Given the description of an element on the screen output the (x, y) to click on. 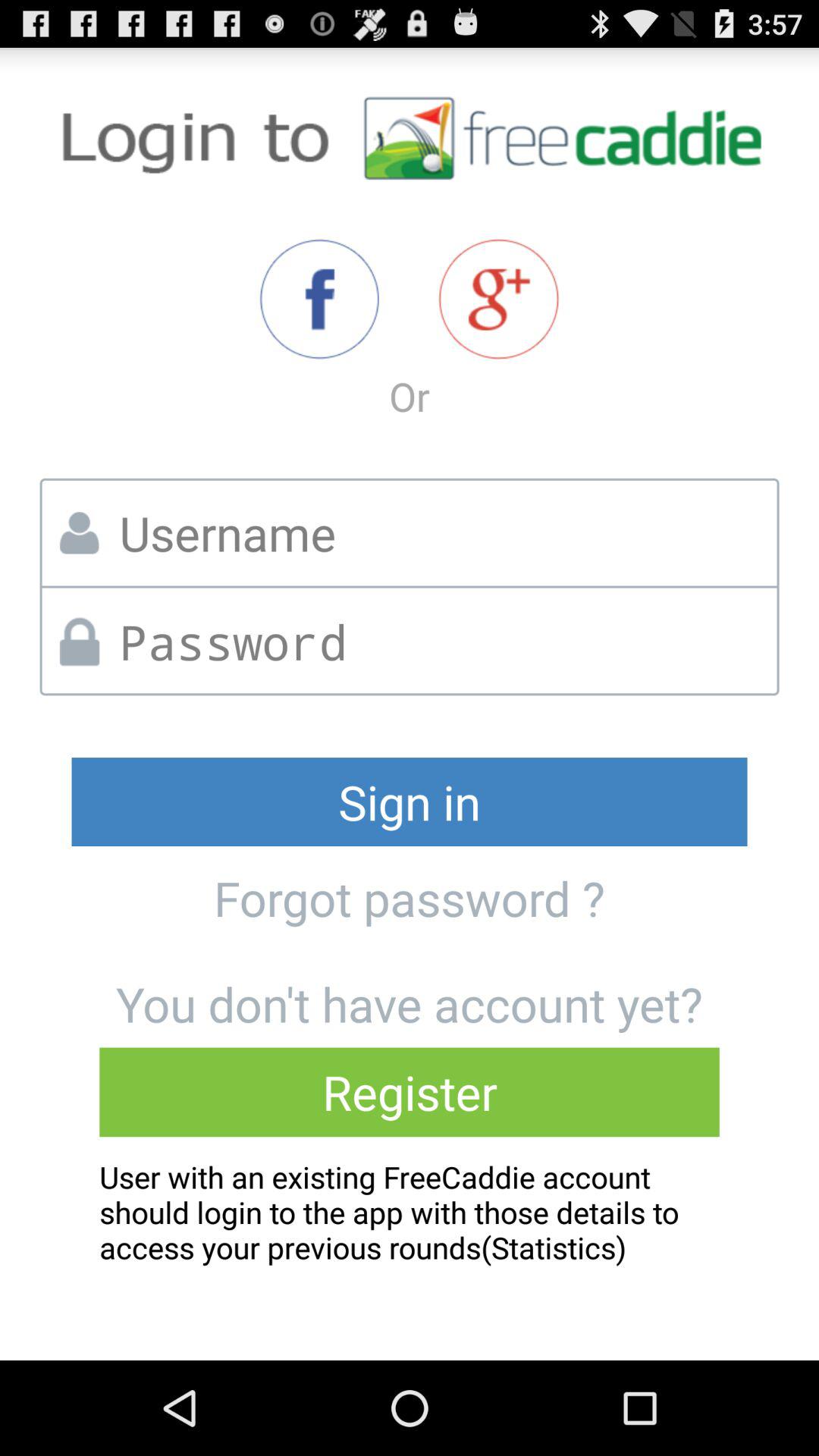
flip to sign in icon (409, 801)
